Given the description of an element on the screen output the (x, y) to click on. 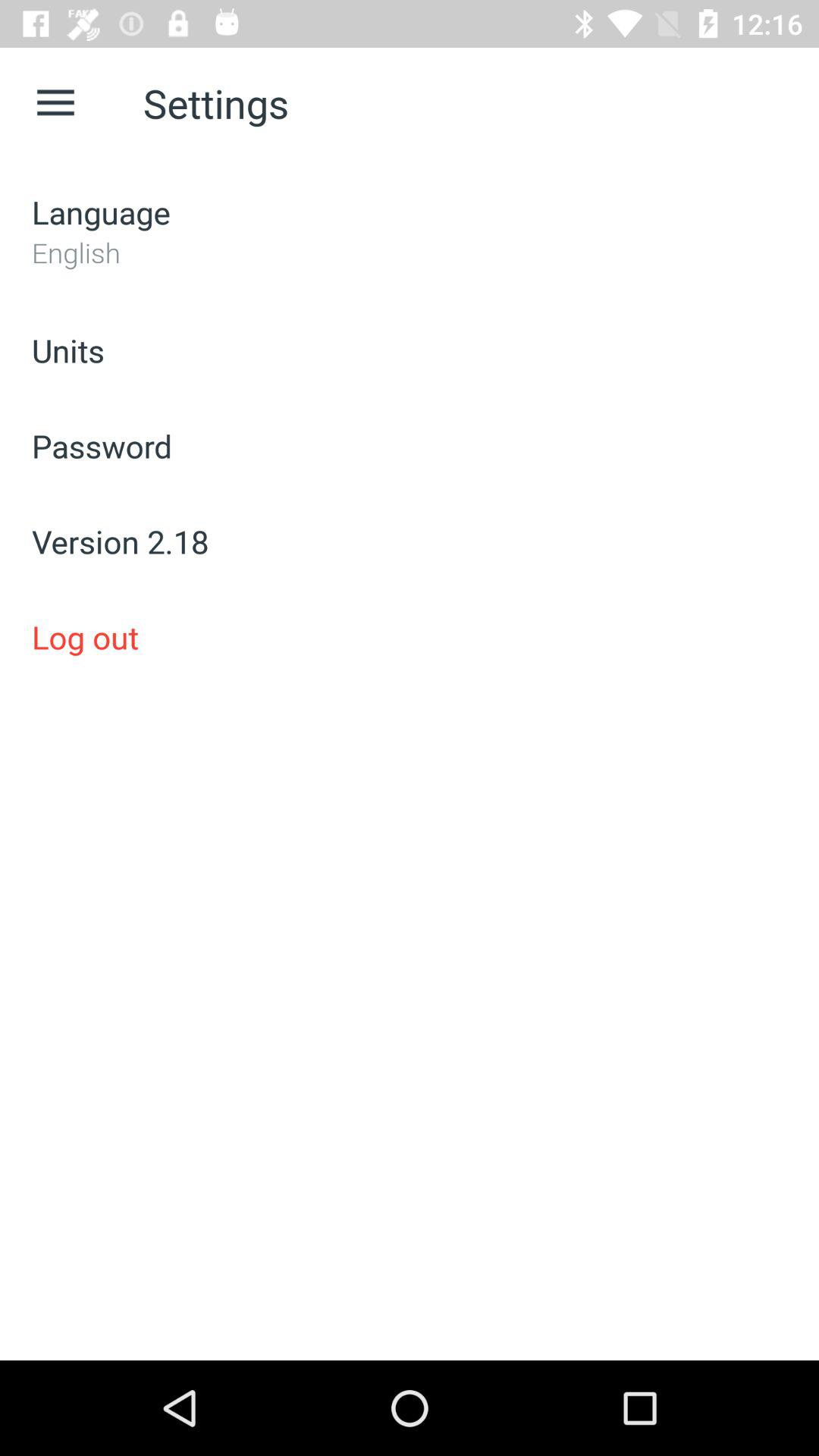
tap icon below the units (409, 445)
